Given the description of an element on the screen output the (x, y) to click on. 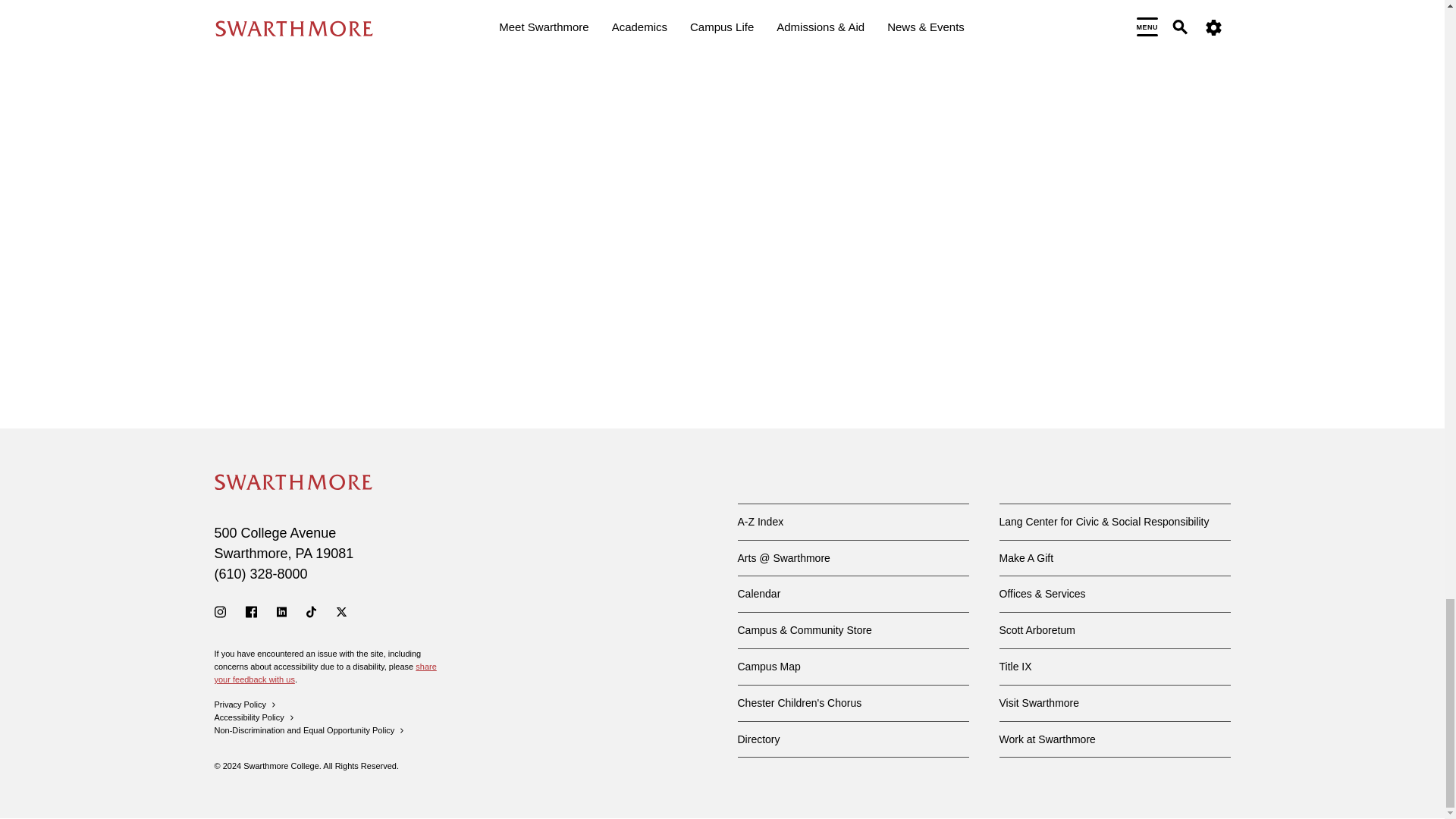
Pennsylvania (304, 553)
Facebook (251, 612)
Instagram (219, 612)
Swarthmore College - Home (292, 482)
